Given the description of an element on the screen output the (x, y) to click on. 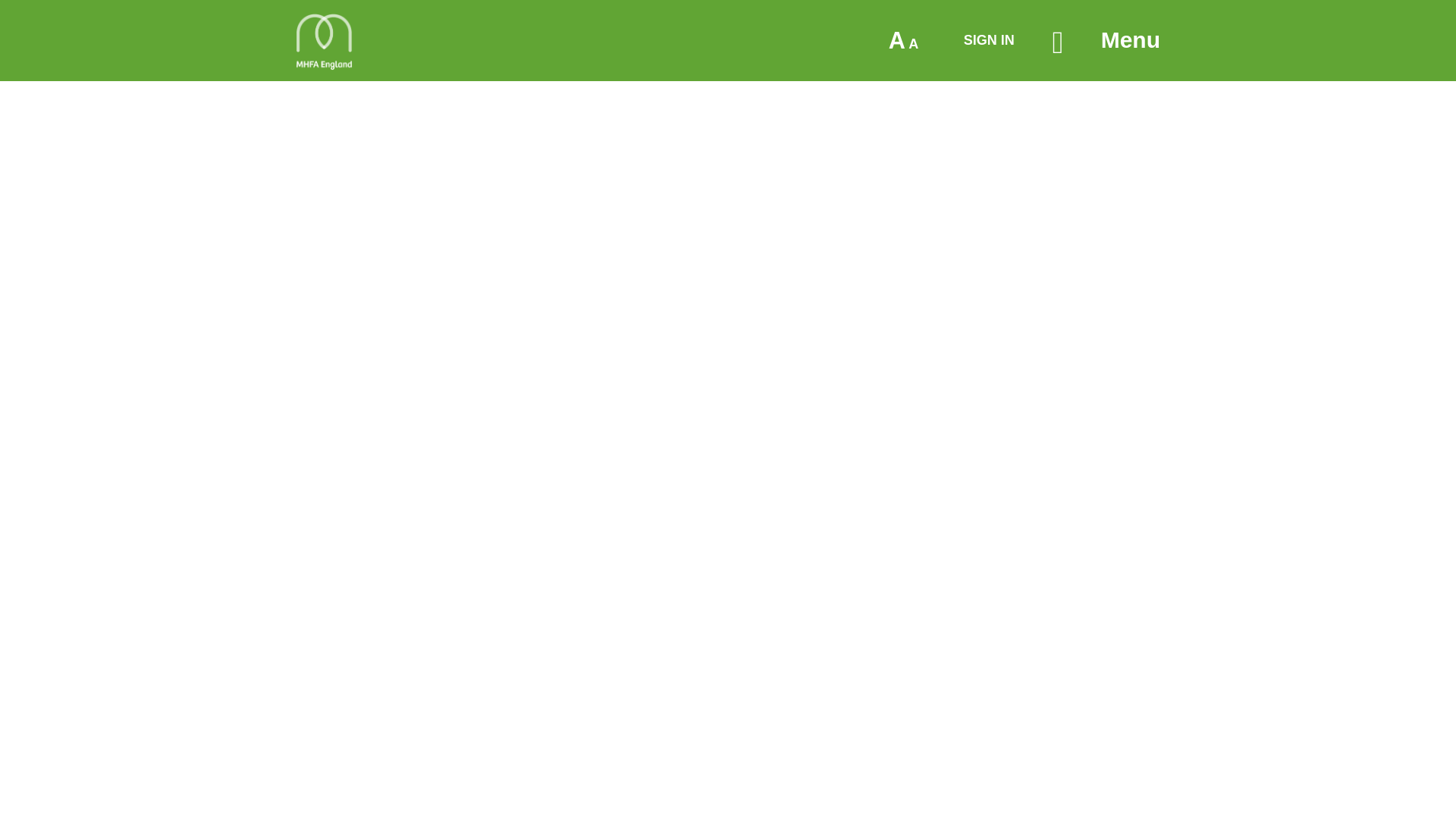
A A (903, 40)
SIGN IN (989, 39)
Sign in (989, 39)
MHFA England Home (323, 41)
